Given the description of an element on the screen output the (x, y) to click on. 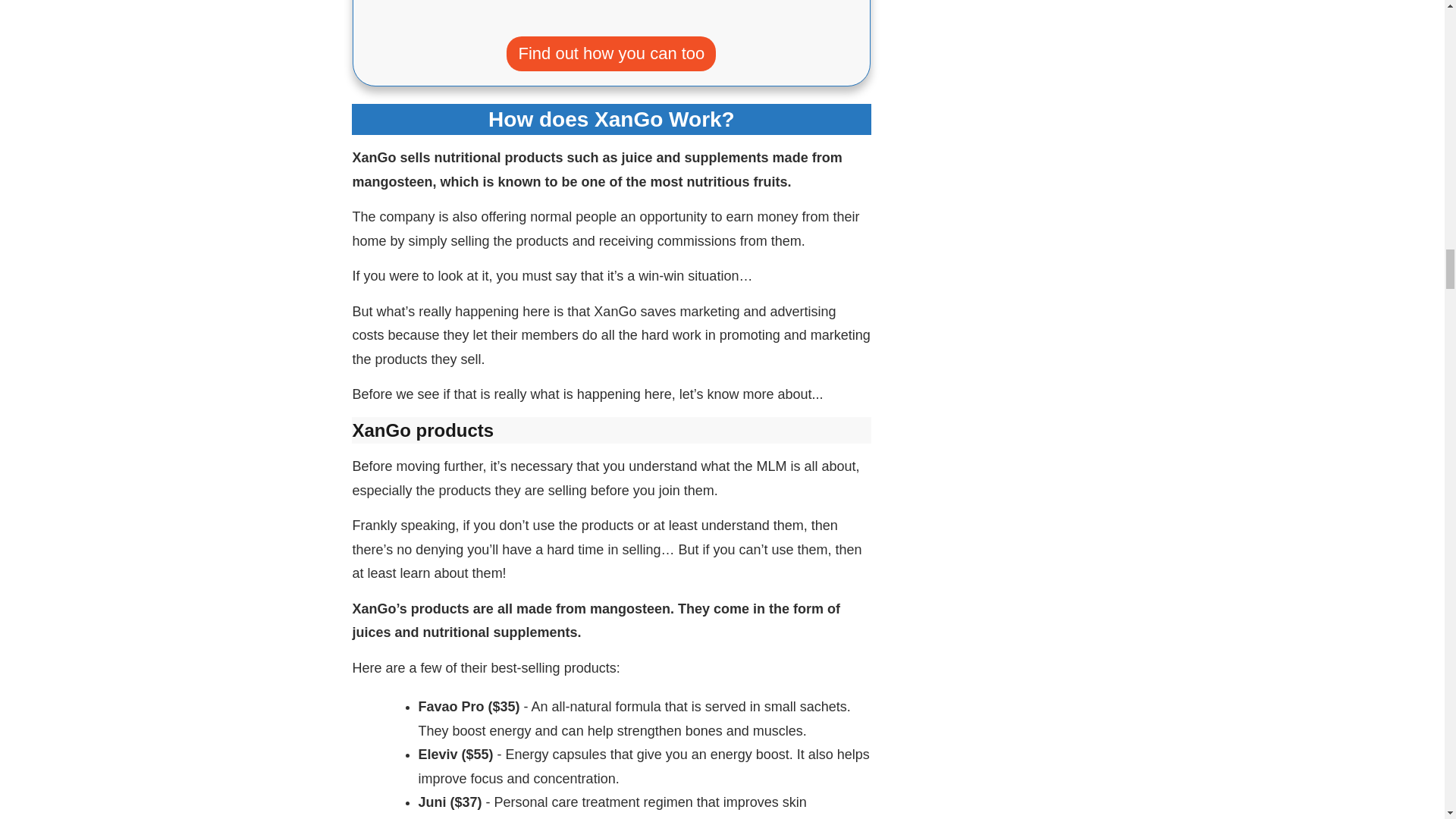
Find out how you can too (611, 53)
Mike Beatty (811, 10)
